Given the description of an element on the screen output the (x, y) to click on. 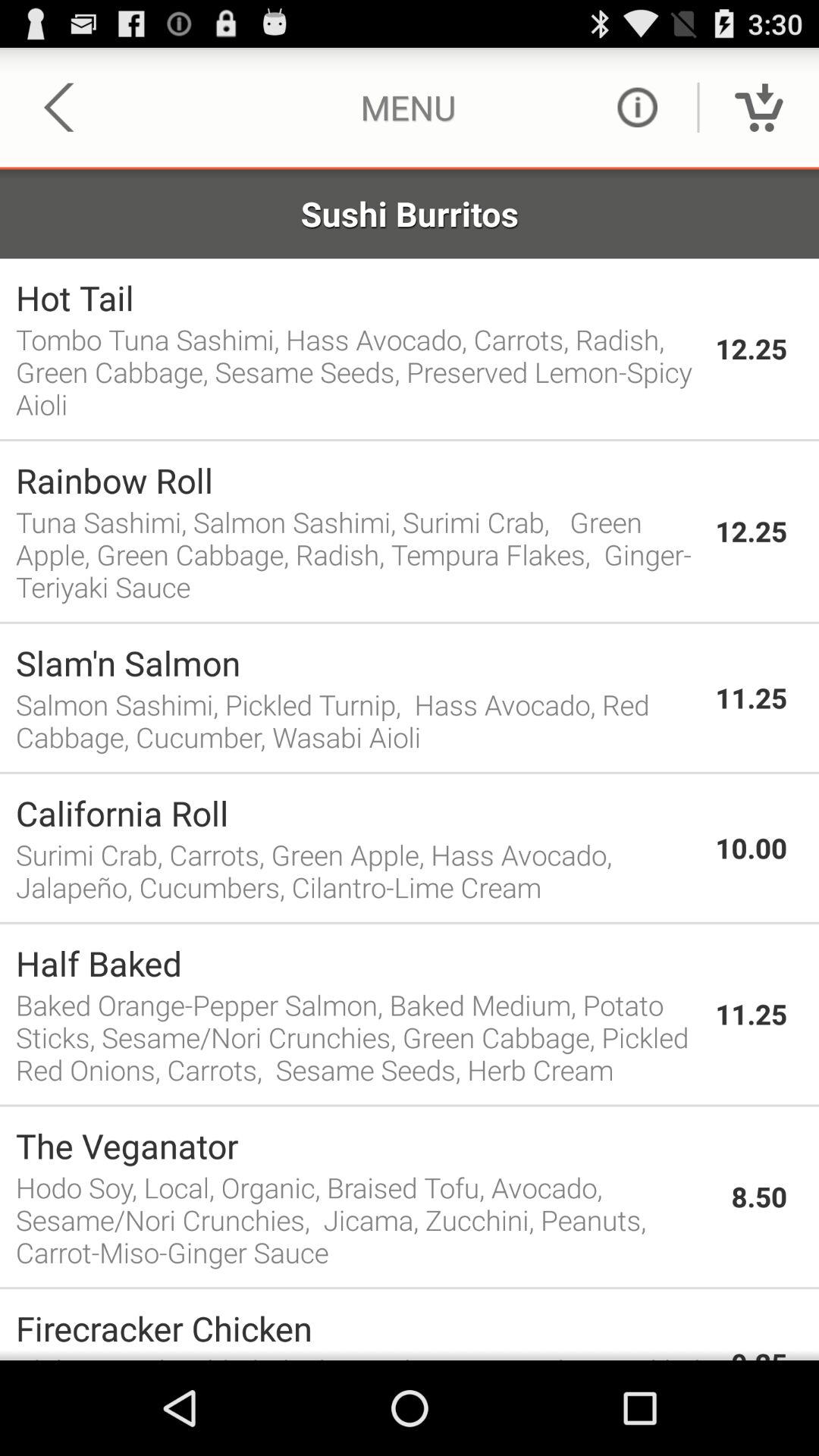
press the app to the left of 9.25 (365, 1328)
